Given the description of an element on the screen output the (x, y) to click on. 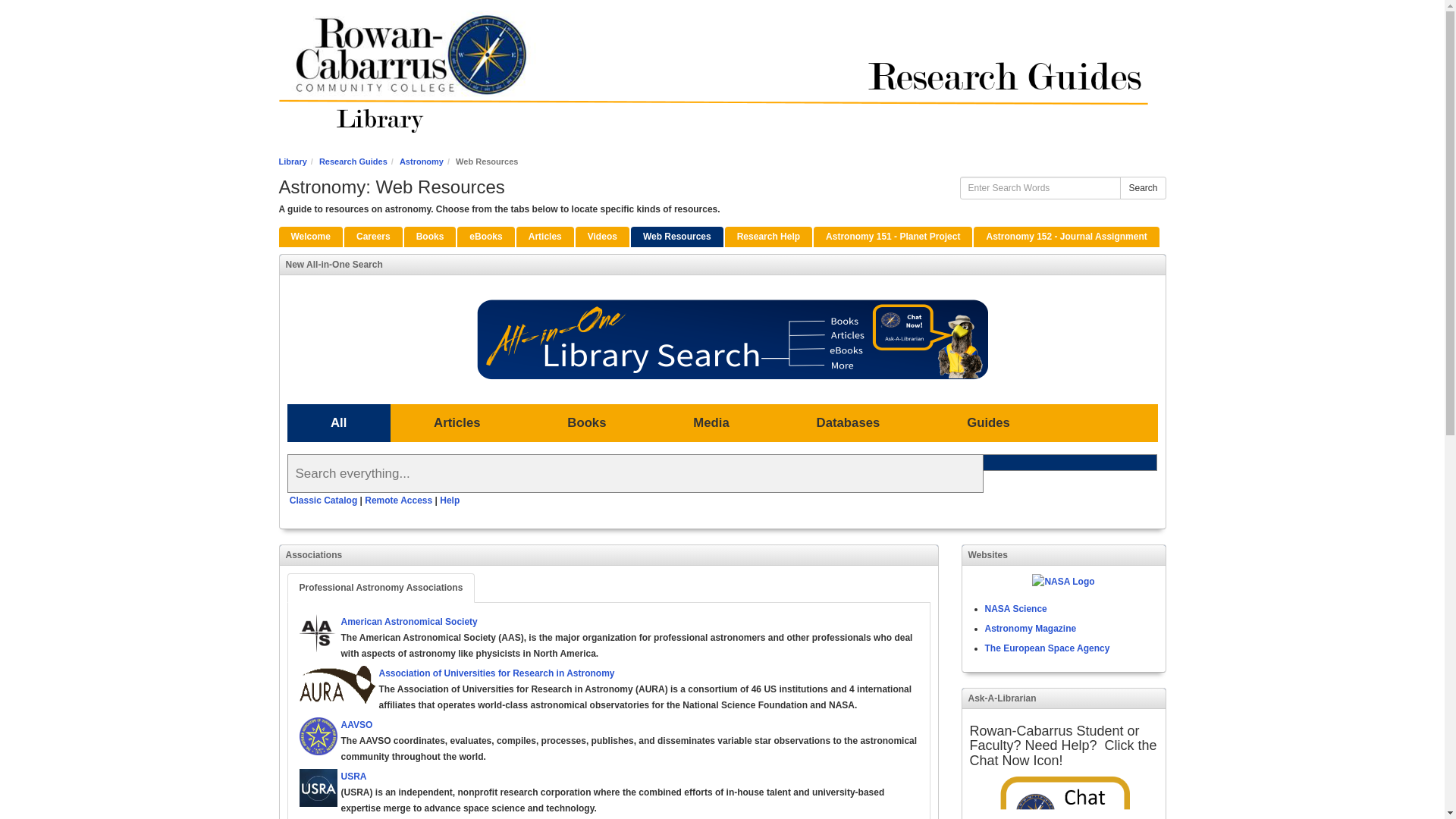
Research Help (768, 236)
Welcome (310, 236)
Books (430, 236)
Library (293, 161)
All (338, 422)
Classic Catalog (322, 500)
Articles (457, 422)
Web Resources (676, 236)
Astronomy (421, 161)
Books (586, 422)
Guides (988, 422)
Search (1142, 187)
Journal Assignment (1066, 236)
Videos (601, 236)
Astronomy 152 - Journal Assignment (1066, 236)
